Given the description of an element on the screen output the (x, y) to click on. 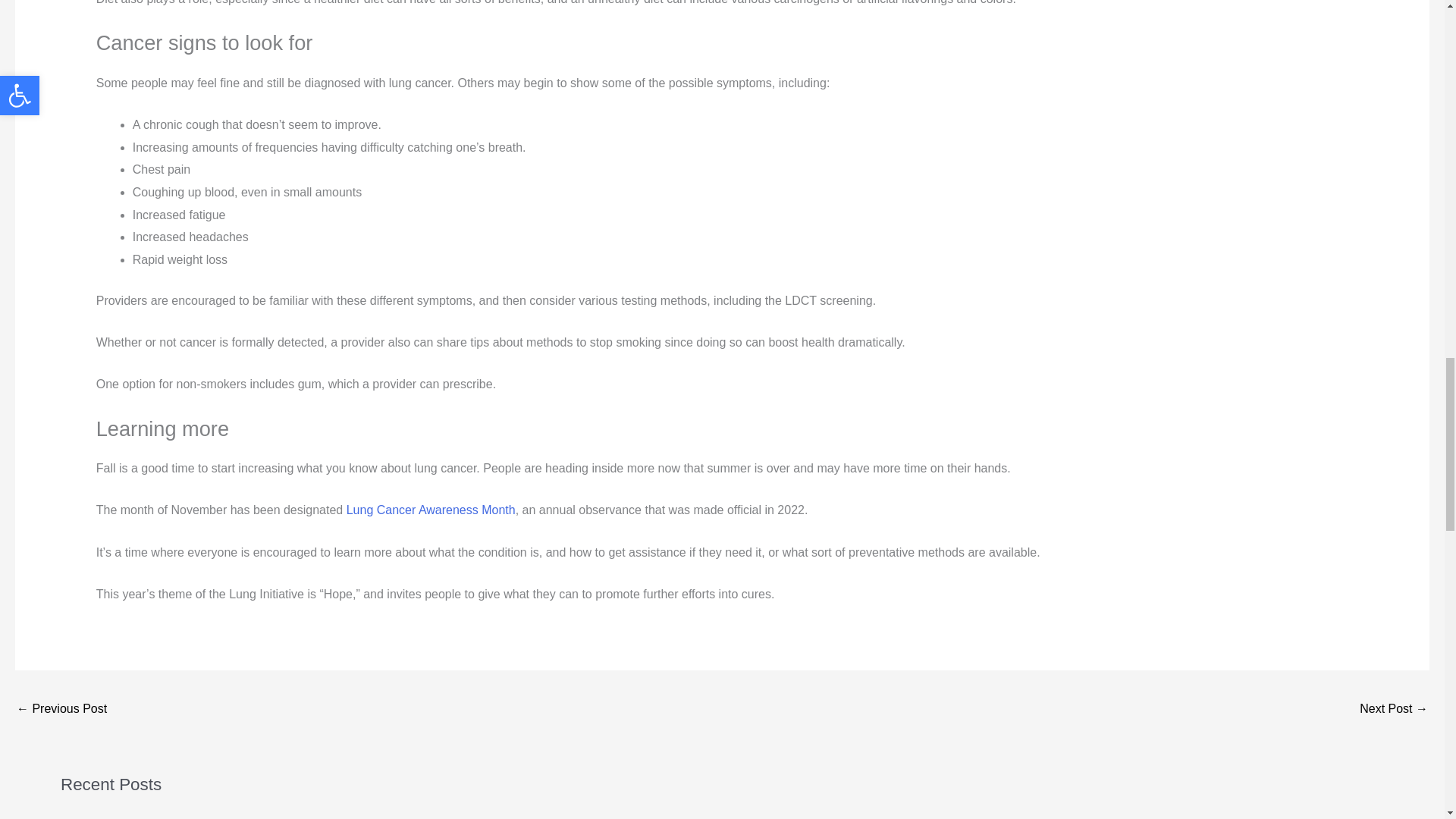
Lung Cancer Awareness Month (430, 509)
